Given the description of an element on the screen output the (x, y) to click on. 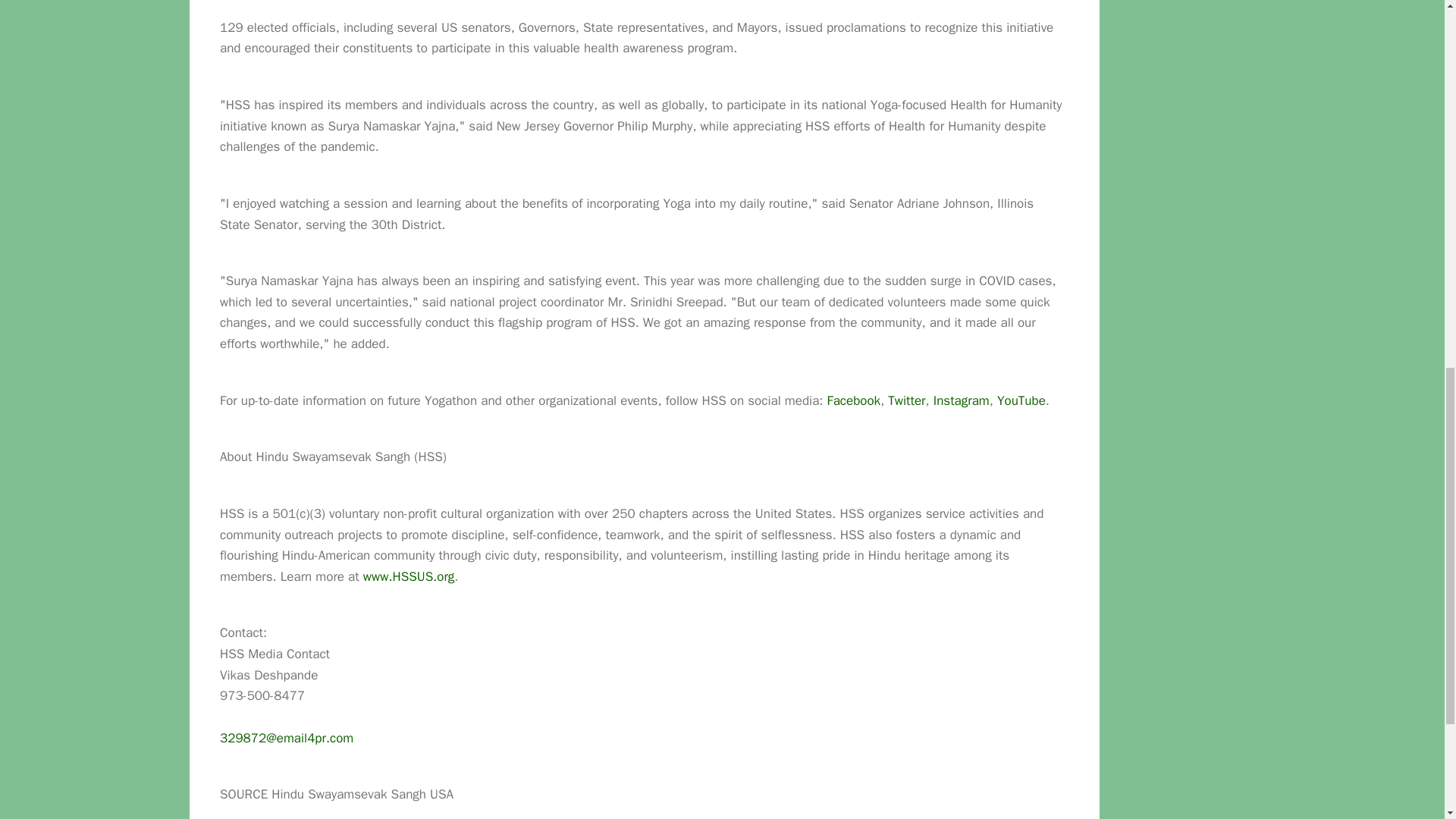
Twitter (906, 400)
Facebook (853, 400)
www.HSSUS.org (408, 576)
Instagram (961, 400)
YouTube (1021, 400)
